Given the description of an element on the screen output the (x, y) to click on. 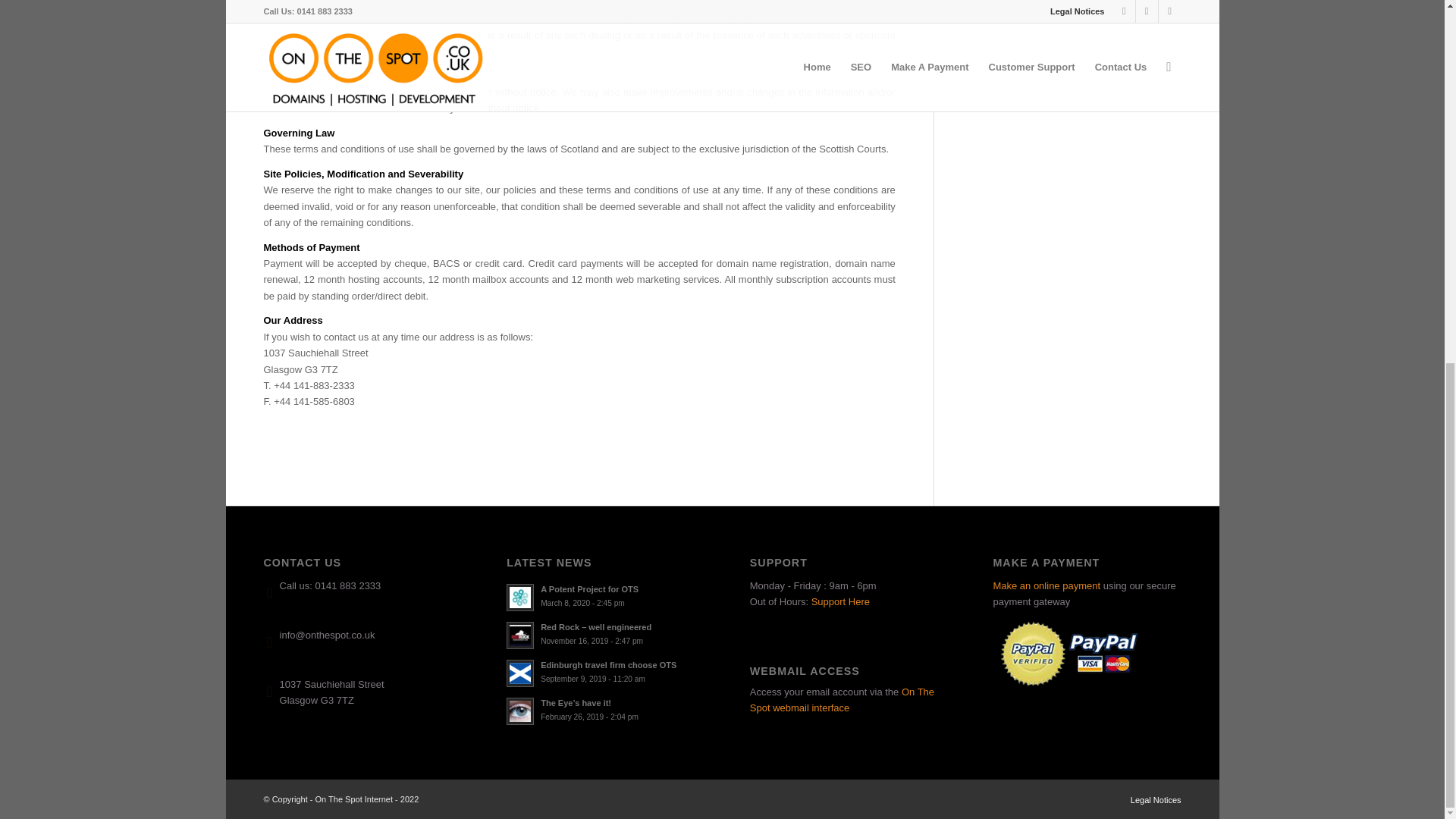
A Potent Project for OTS (600, 595)
On The Spot webmail interface (841, 699)
Support Here (839, 601)
Edinburgh travel firm choose OTS (600, 595)
Support Information (600, 671)
